Given the description of an element on the screen output the (x, y) to click on. 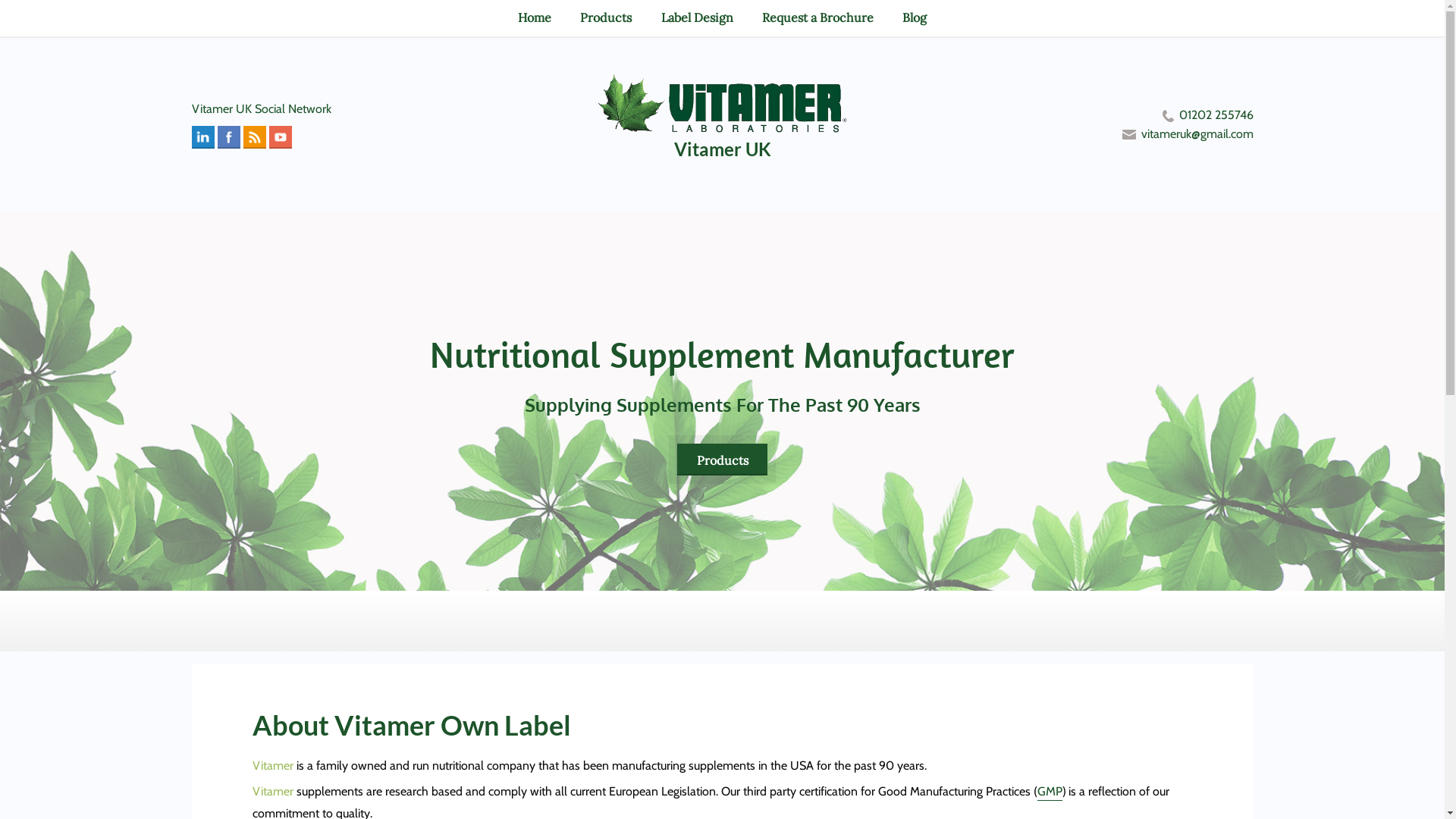
GMP (1049, 791)
Blog (914, 18)
Products (722, 459)
Linkedin (202, 137)
Request a Brochure (818, 18)
Products (606, 18)
Home (534, 18)
Youtube (279, 137)
Facebook (228, 137)
Rss (253, 137)
